Given the description of an element on the screen output the (x, y) to click on. 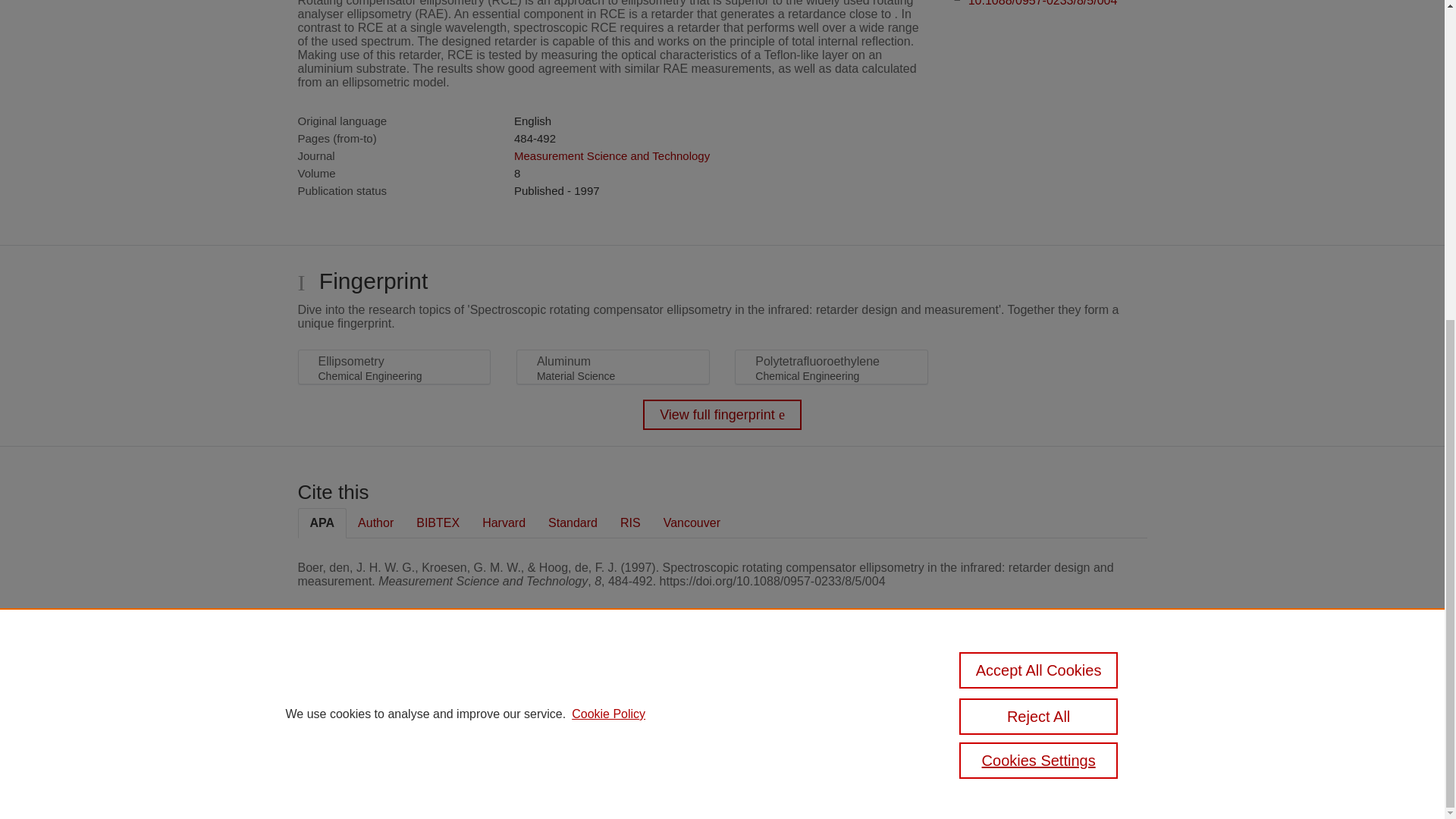
Elsevier B.V. (506, 707)
Measurement Science and Technology (611, 155)
Pure (362, 686)
View full fingerprint (722, 414)
Scopus (394, 686)
